Given the description of an element on the screen output the (x, y) to click on. 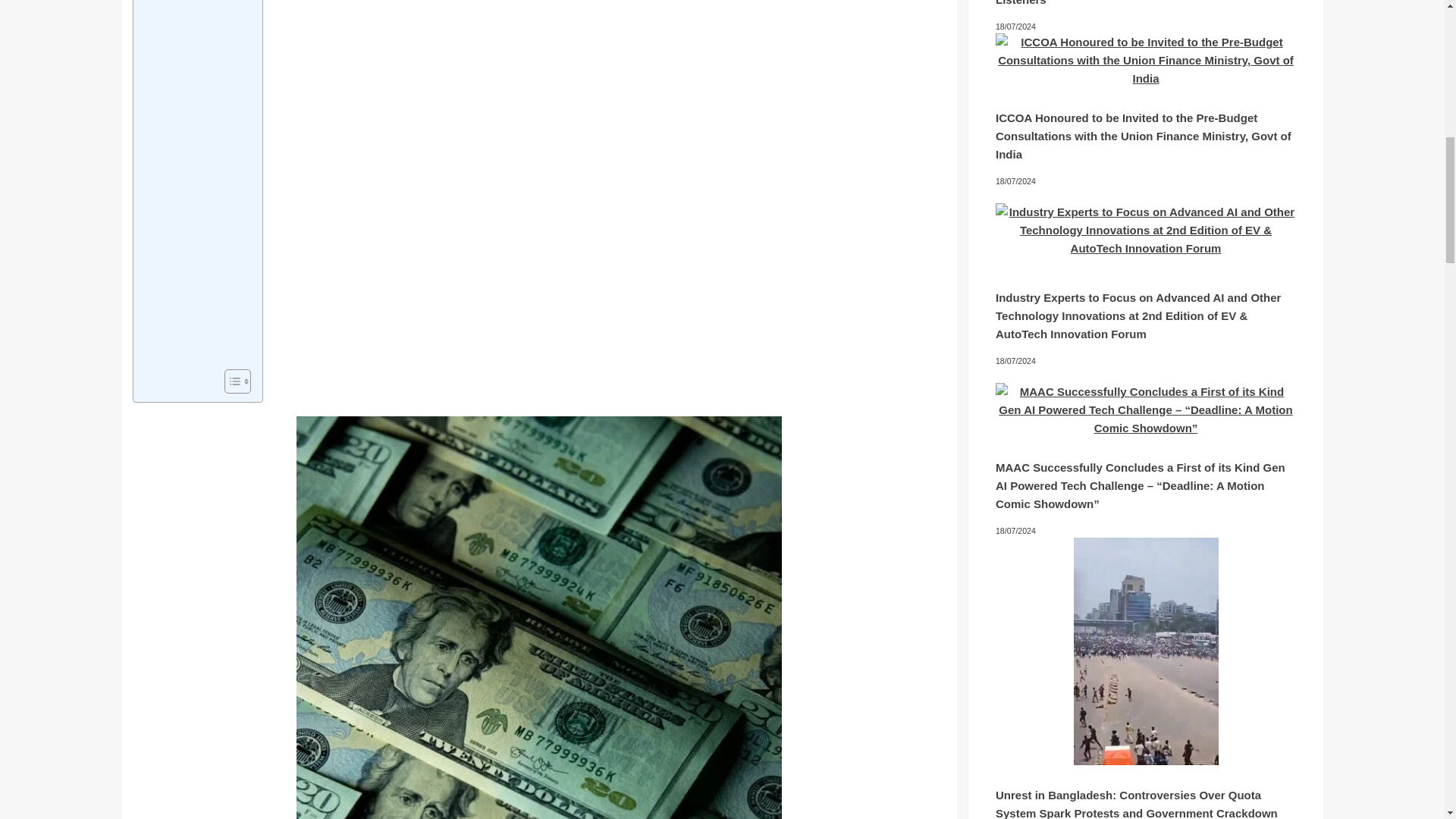
Advertisement (194, 181)
